Given the description of an element on the screen output the (x, y) to click on. 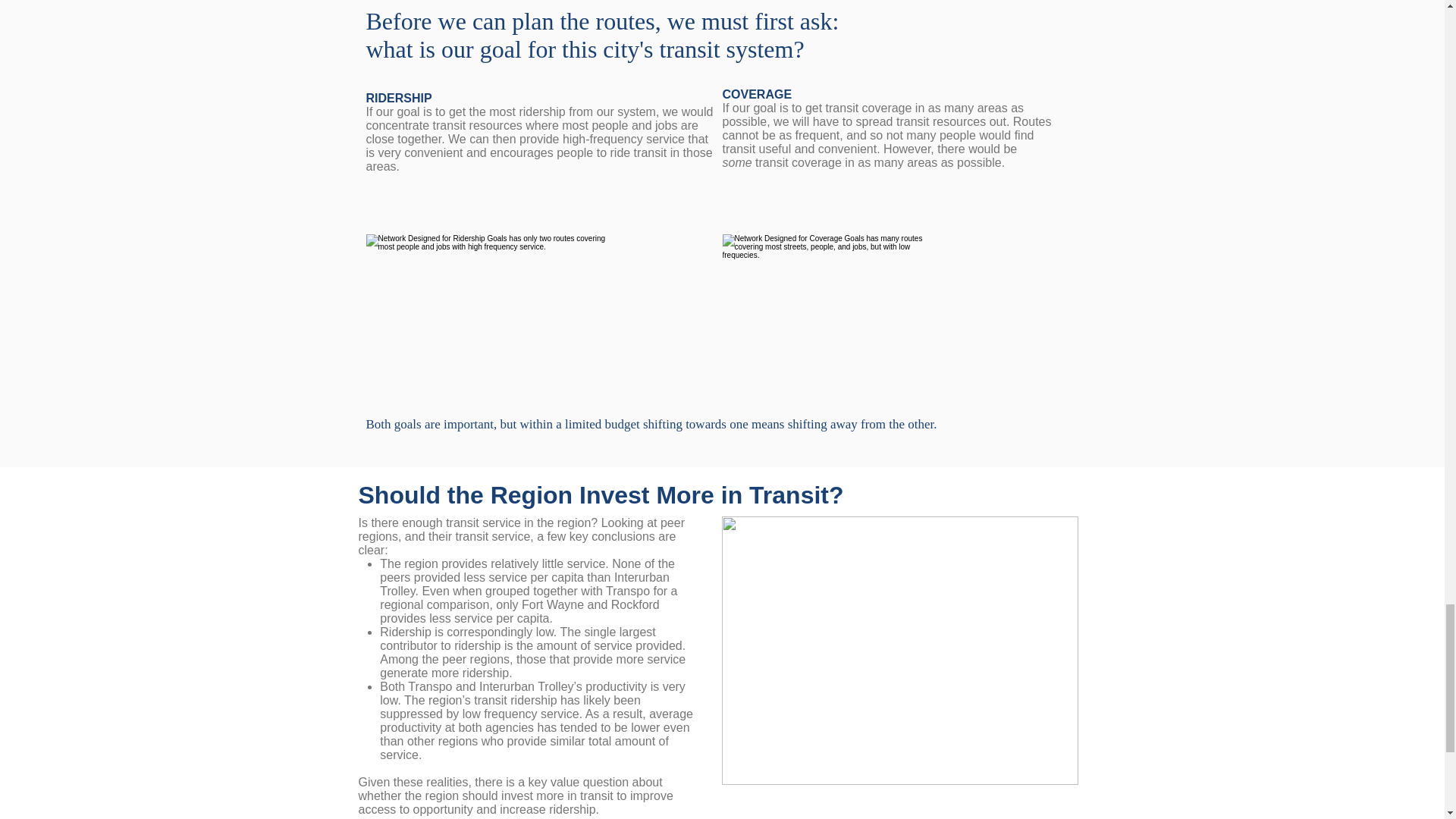
Service Investment.png (900, 650)
High Ridership Network Design (485, 318)
